Given the description of an element on the screen output the (x, y) to click on. 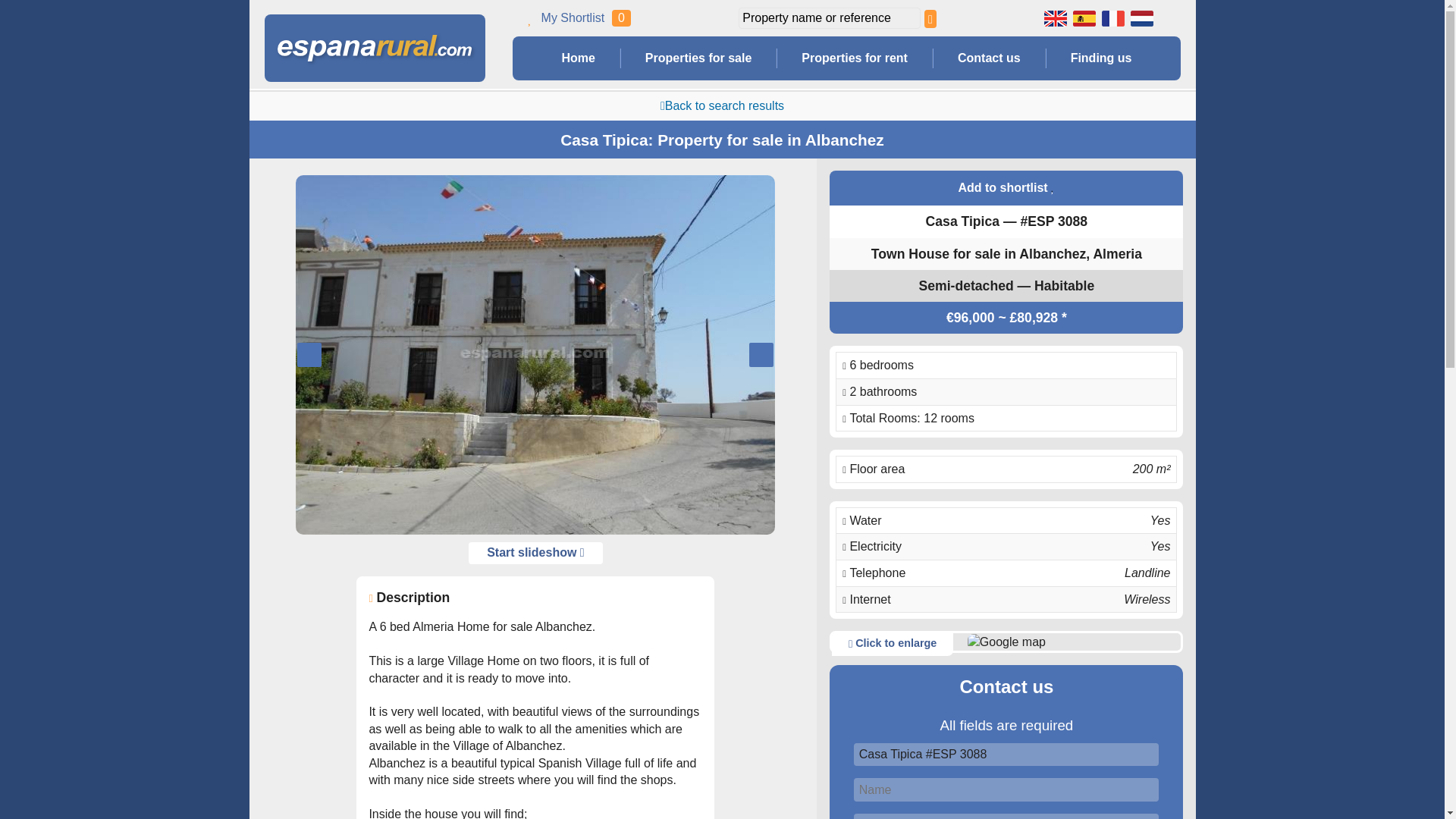
Yes, we speak English (1054, 17)
Click to enlarge (892, 644)
Finding us (1100, 57)
Start slideshow (535, 553)
My Shortlist (572, 17)
Yes, we speak English (1054, 17)
Contact us (989, 57)
Ja, wij spreken Nederlands (1141, 17)
Back to search results (722, 105)
Properties for sale (698, 57)
Home (578, 57)
Properties for rent (854, 57)
Ja, wij spreken Nederlands (1141, 17)
